Given the description of an element on the screen output the (x, y) to click on. 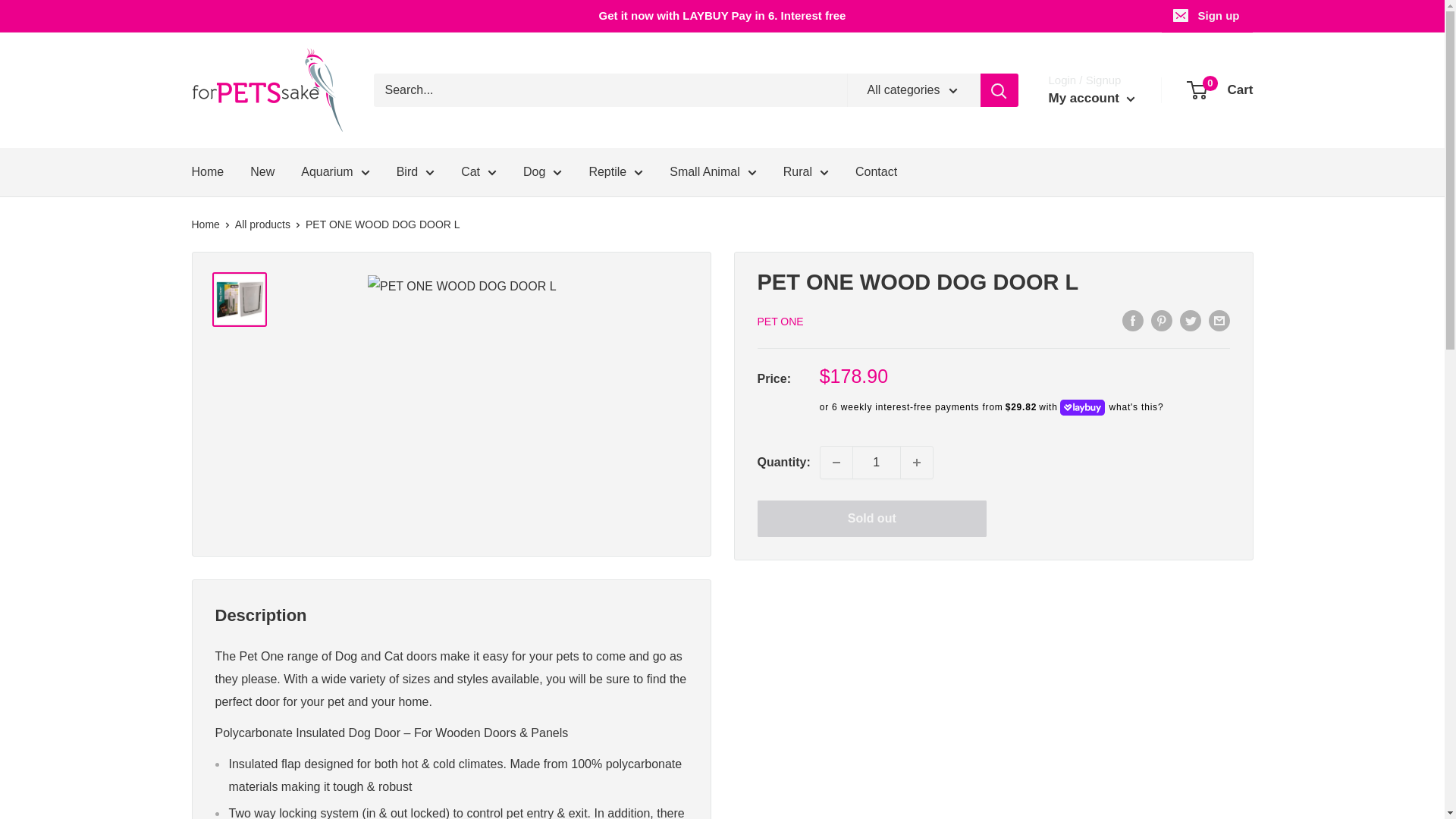
Sign up (1206, 15)
Decrease quantity by 1 (836, 462)
Increase quantity by 1 (917, 462)
1 (876, 462)
